Given the description of an element on the screen output the (x, y) to click on. 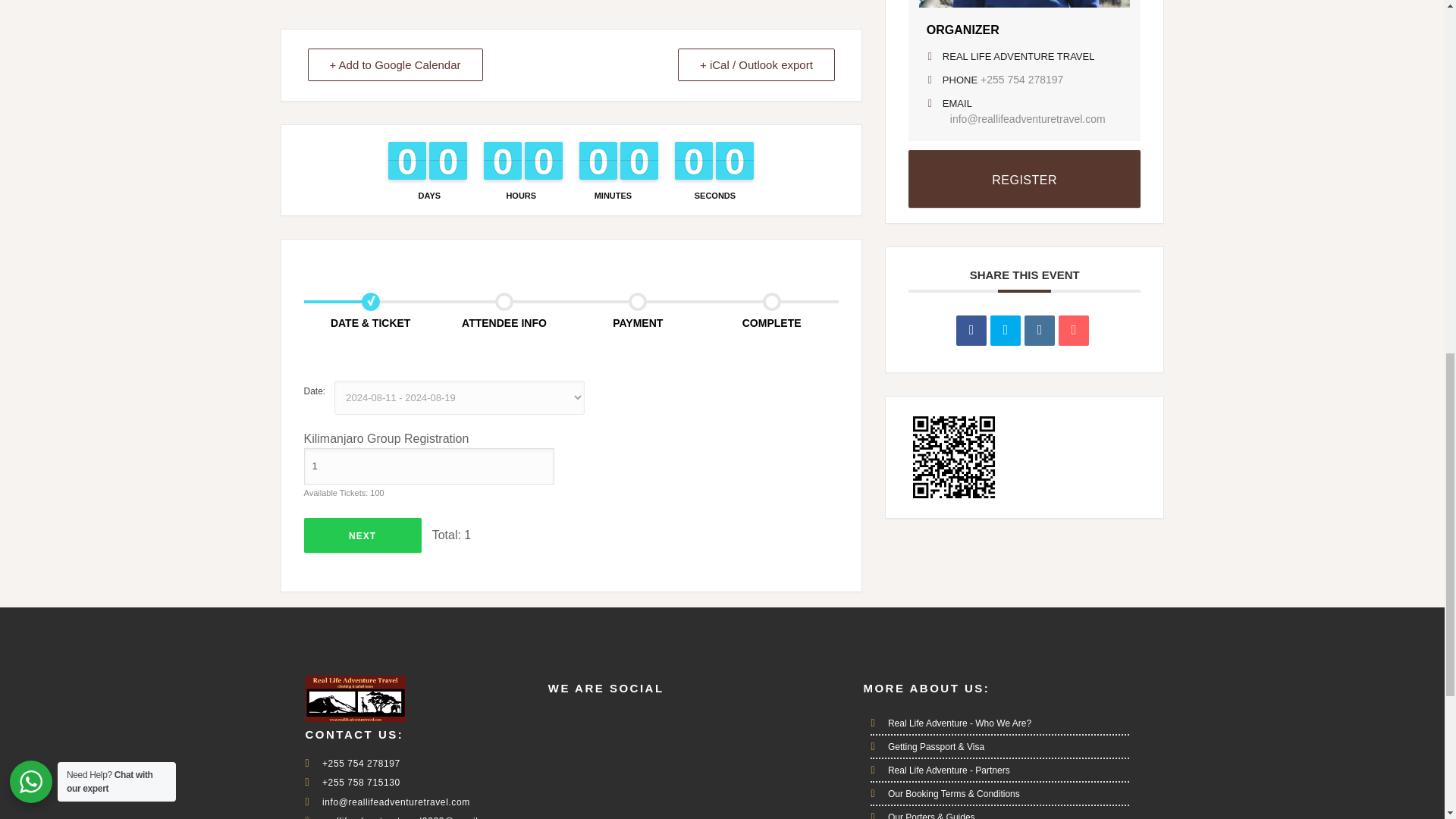
Tweet (1005, 330)
Linkedin (1039, 330)
Email (1073, 330)
Count (427, 465)
1 (427, 465)
Share on Facebook (971, 330)
